Given the description of an element on the screen output the (x, y) to click on. 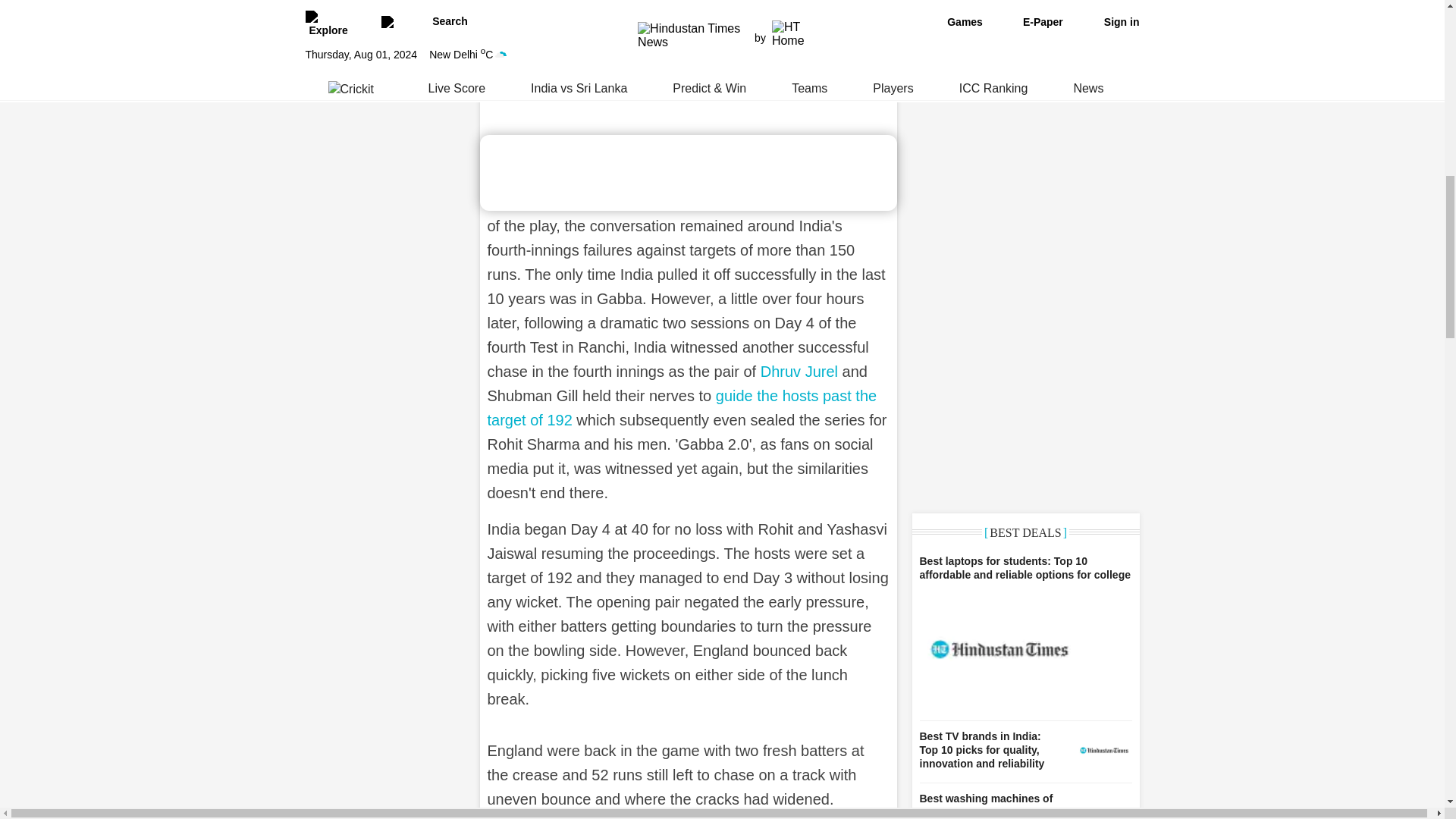
guide the hosts past the target of 192 (681, 407)
Dhruv Jurel (799, 371)
